Given the description of an element on the screen output the (x, y) to click on. 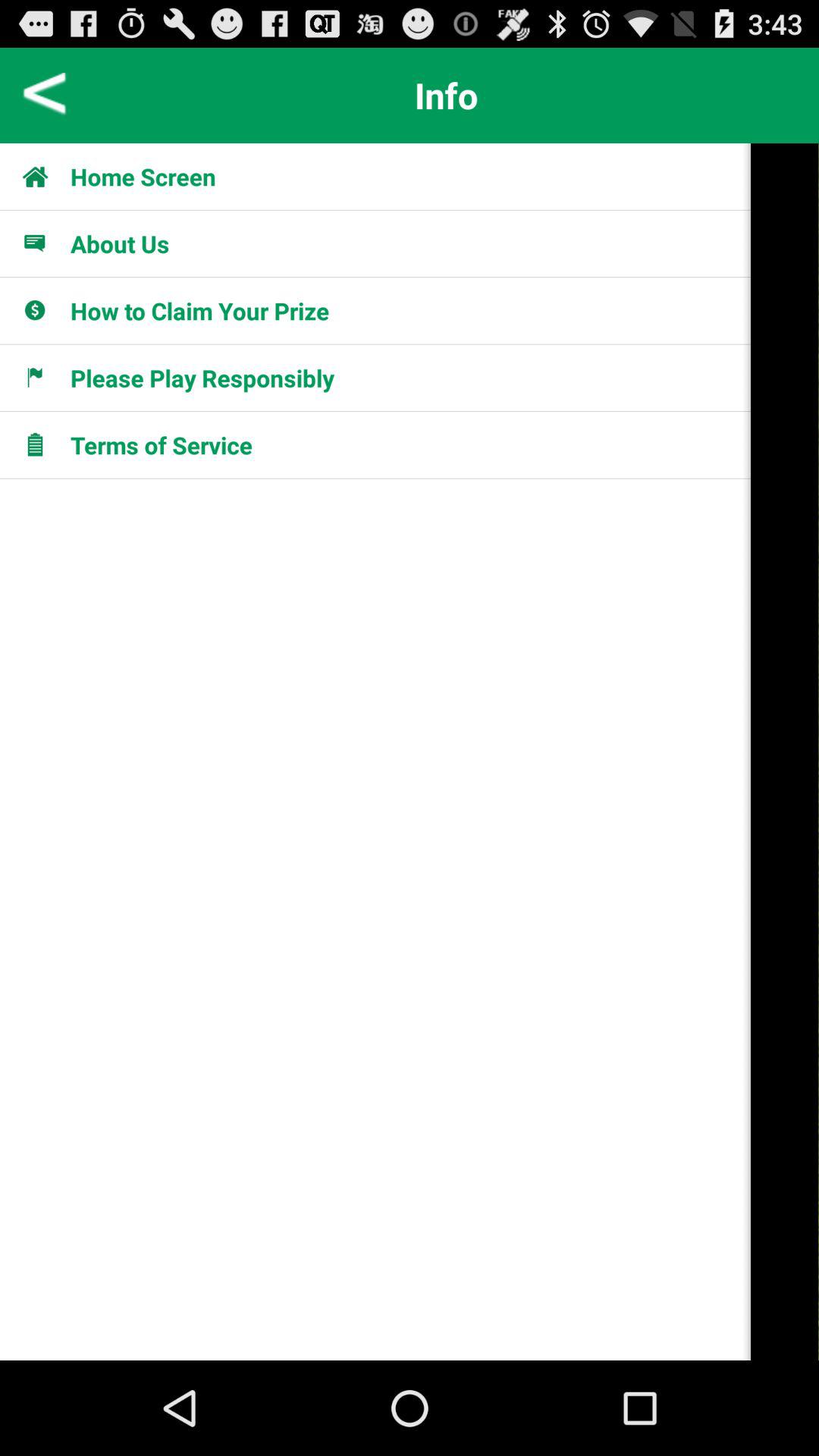
go back (44, 94)
